Given the description of an element on the screen output the (x, y) to click on. 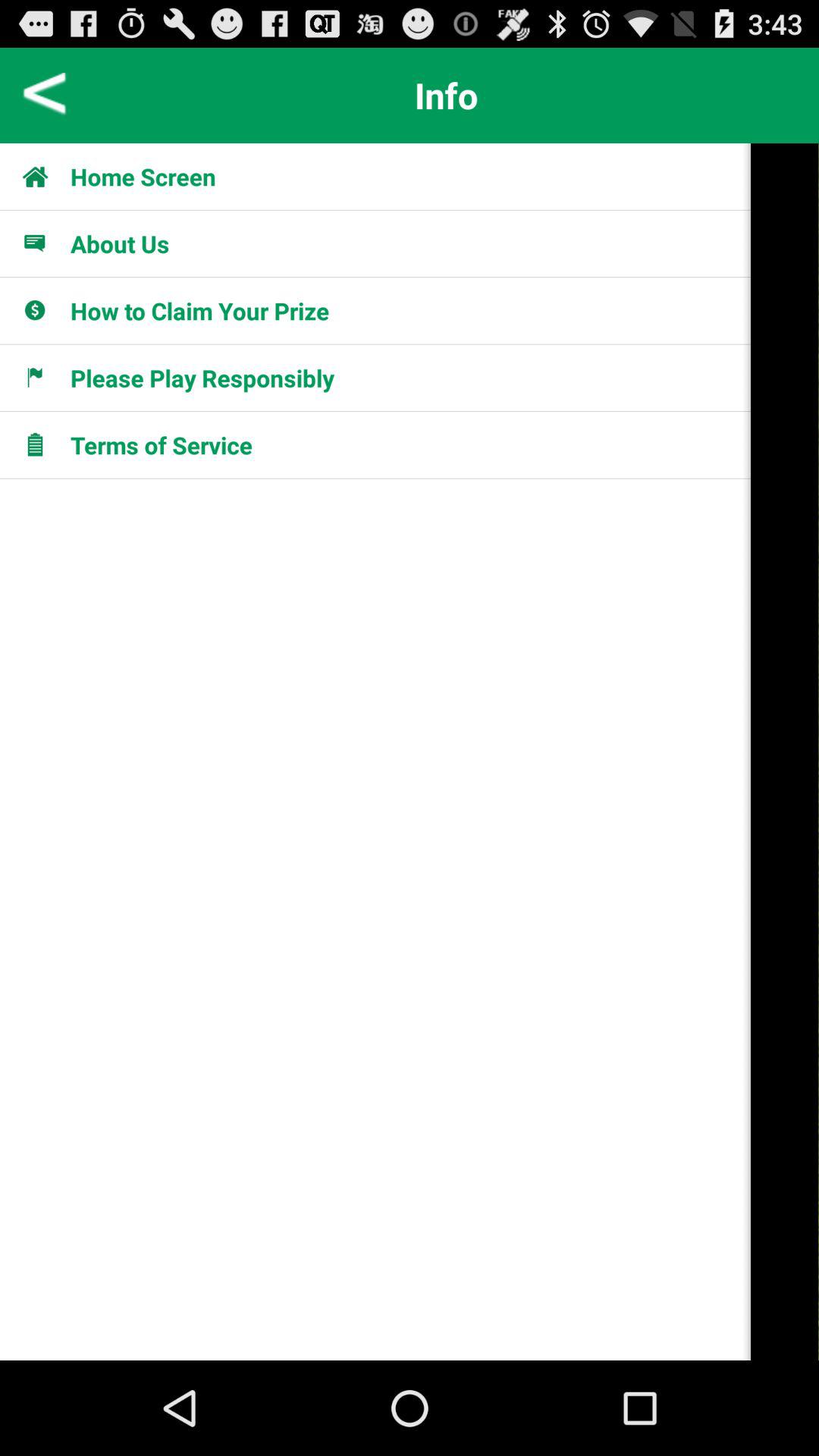
go back (44, 94)
